Given the description of an element on the screen output the (x, y) to click on. 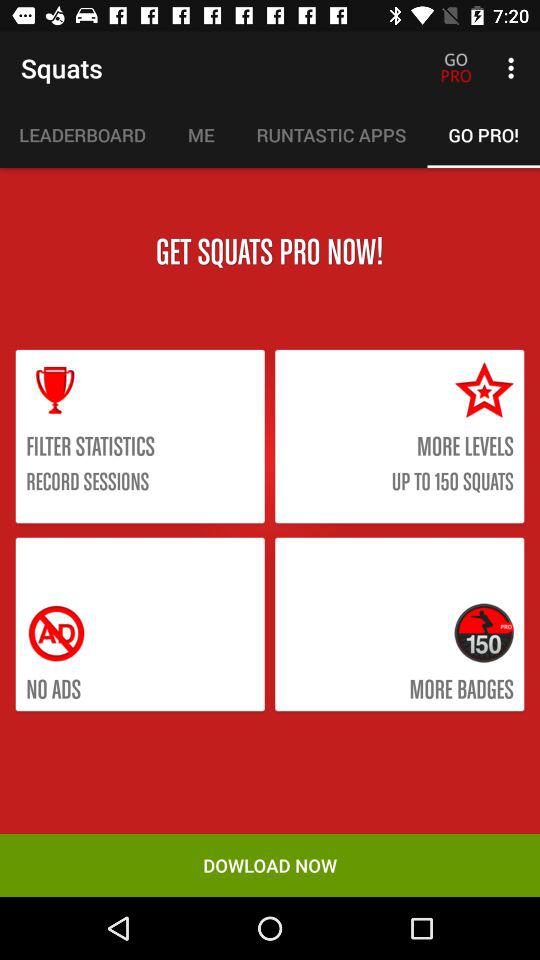
press icon to the right of the leaderboard item (200, 135)
